Given the description of an element on the screen output the (x, y) to click on. 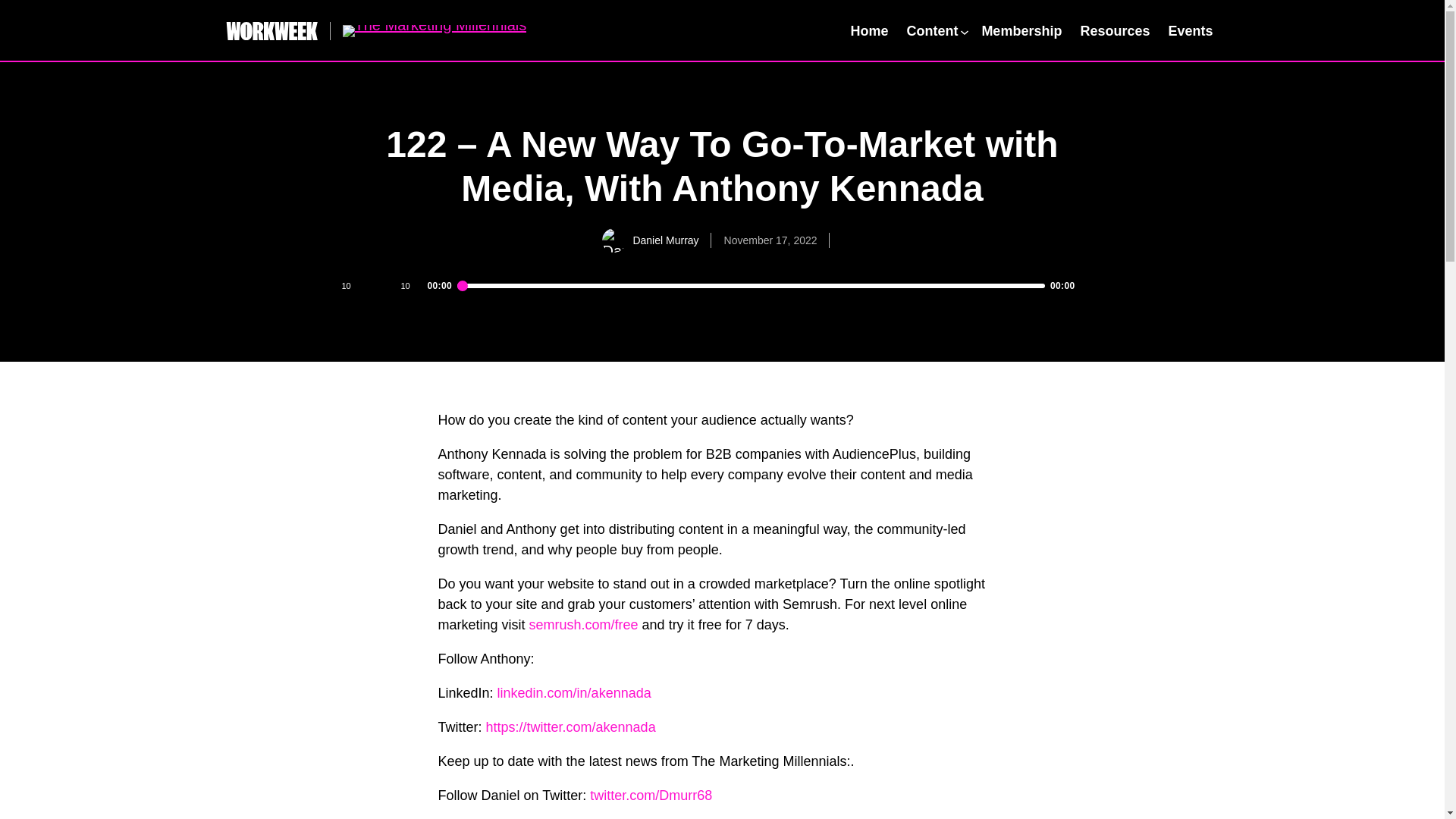
Home (869, 31)
10 (344, 285)
Jump forward 10 seconds (405, 285)
10 (405, 285)
Skip back 10 seconds (344, 285)
Events (1189, 31)
Membership (1021, 31)
Content (935, 31)
Mute (1093, 285)
Resources (1115, 31)
Play (376, 285)
